Given the description of an element on the screen output the (x, y) to click on. 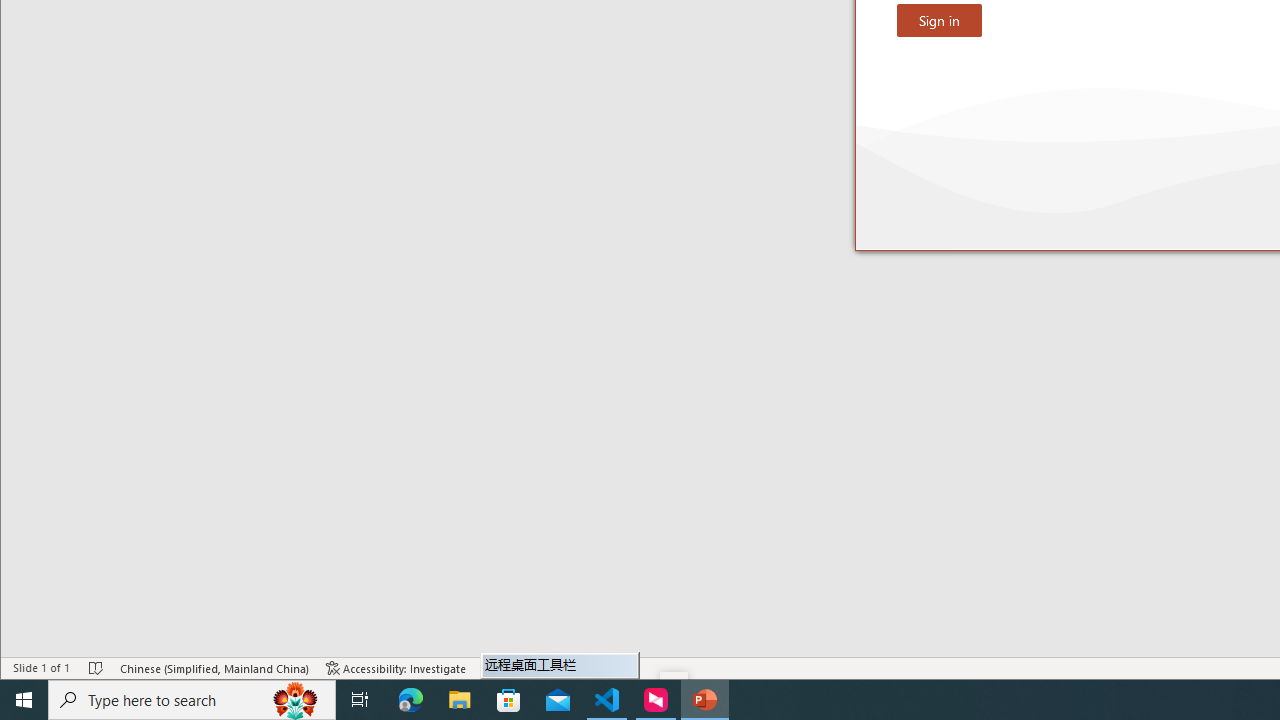
Sign in (939, 20)
